Given the description of an element on the screen output the (x, y) to click on. 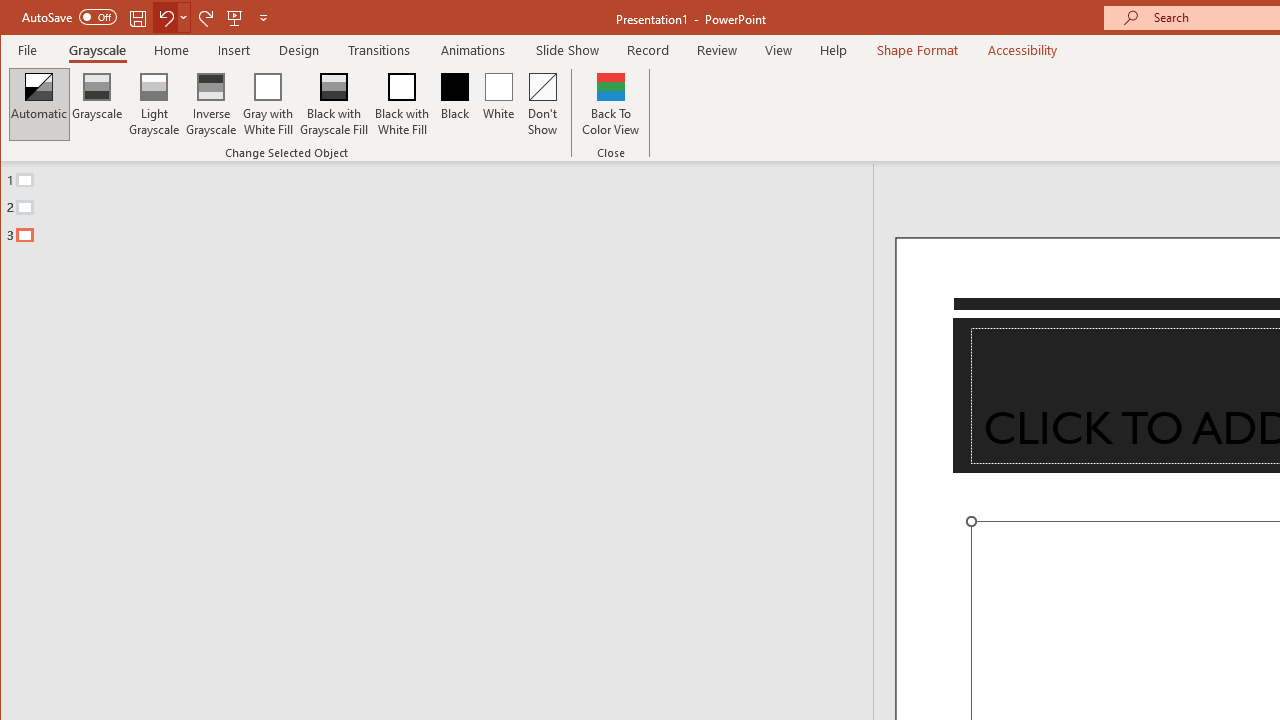
Back To Color View (610, 104)
Inverse Grayscale (211, 104)
Black (454, 104)
